Given the description of an element on the screen output the (x, y) to click on. 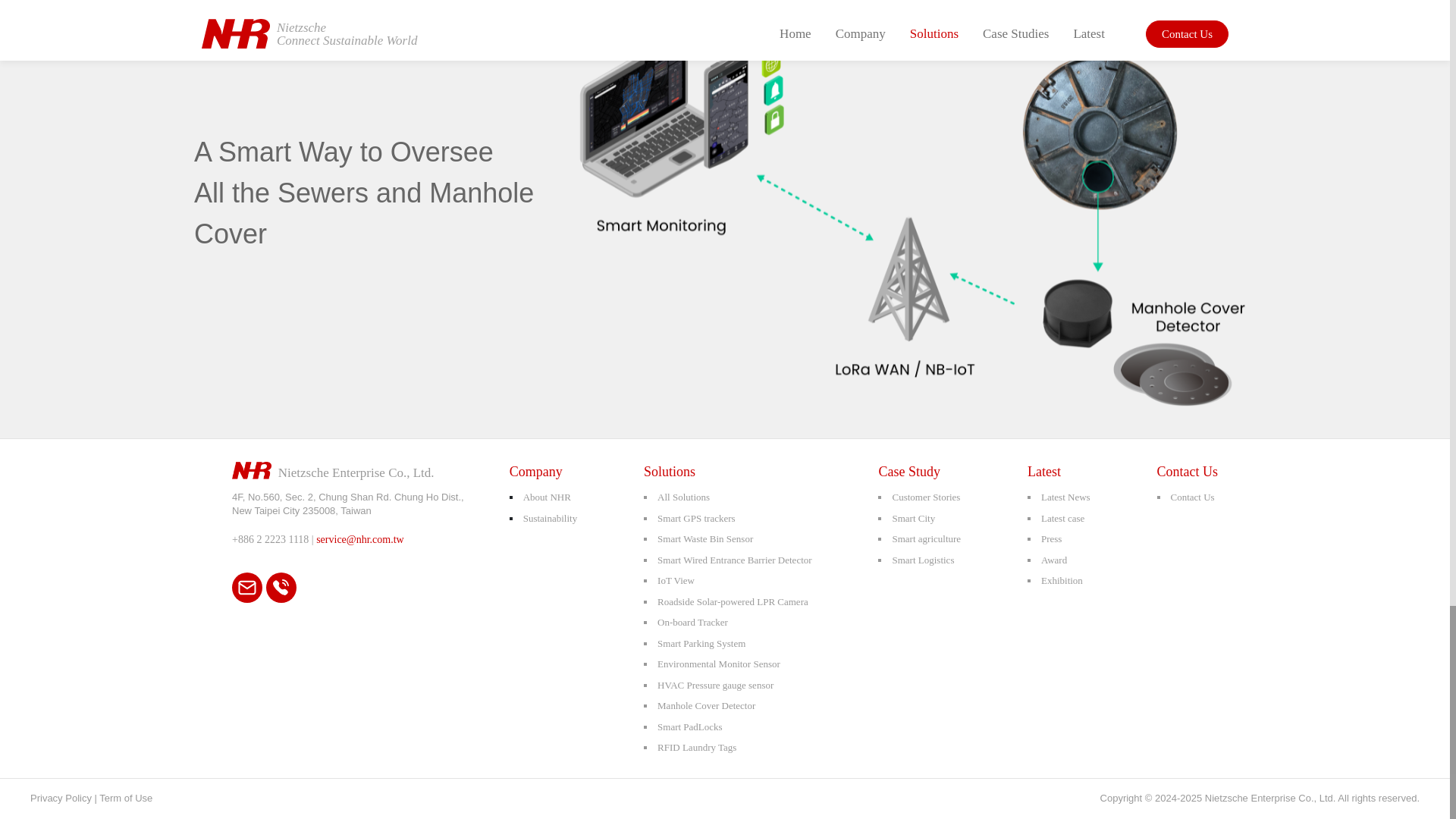
Smart Waste Bin Sensor (705, 538)
Exhibition (1062, 580)
All Solutions (684, 496)
Smart agriculture (925, 538)
Smart City (912, 517)
Environmental Monitor Sensor (719, 663)
Manhole Cover Detector (706, 705)
Smart Wired Entrance Barrier Detector (735, 559)
RFID Laundry Tags (697, 747)
Press (1051, 538)
HVAC Pressure gauge sensor (715, 684)
Smart Logistics (922, 559)
About NHR (546, 496)
Latest case (1062, 517)
On-board Tracker (693, 622)
